Given the description of an element on the screen output the (x, y) to click on. 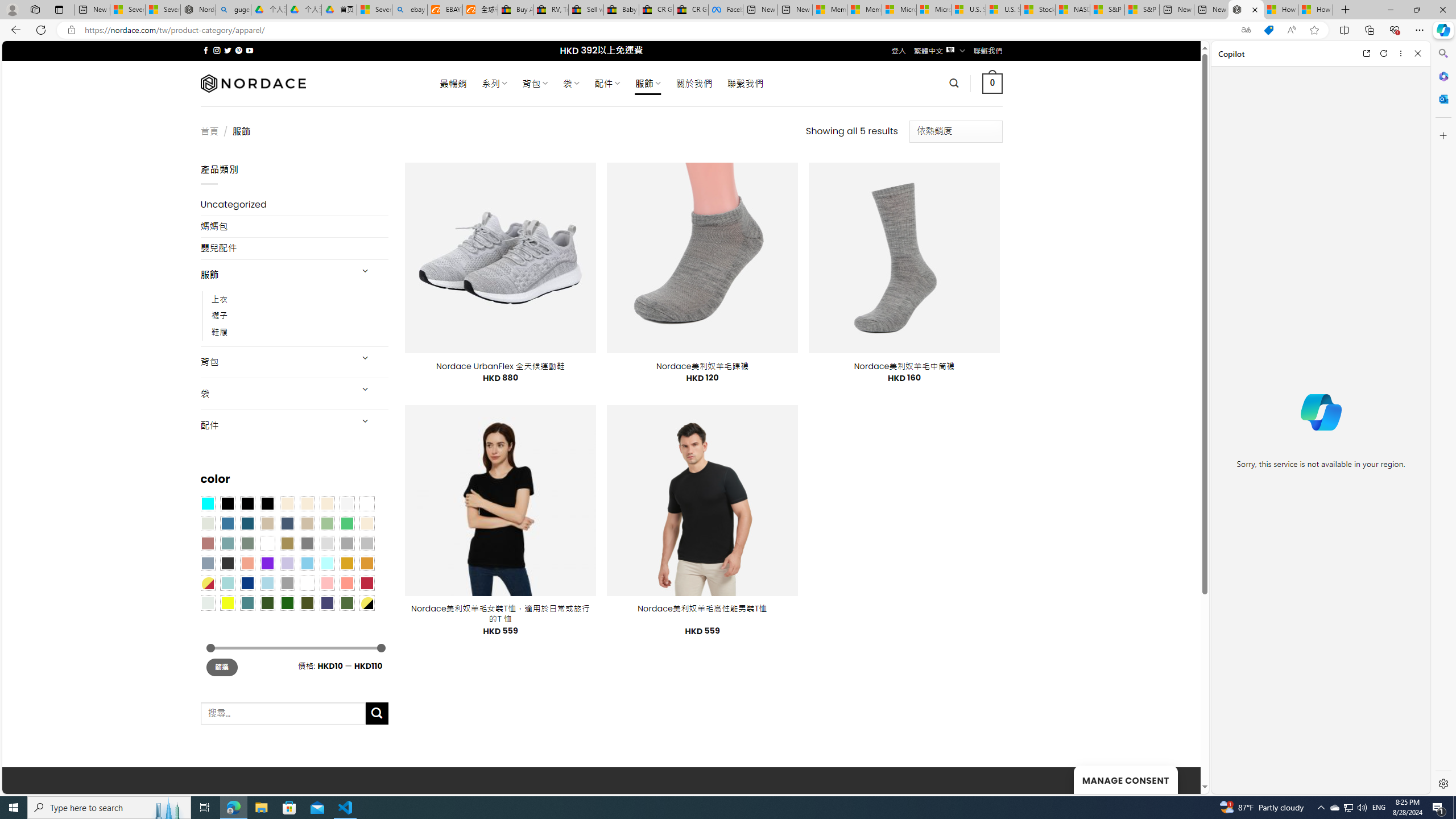
How to Use a Monitor With Your Closed Laptop (1315, 9)
Sell worldwide with eBay (585, 9)
